Given the description of an element on the screen output the (x, y) to click on. 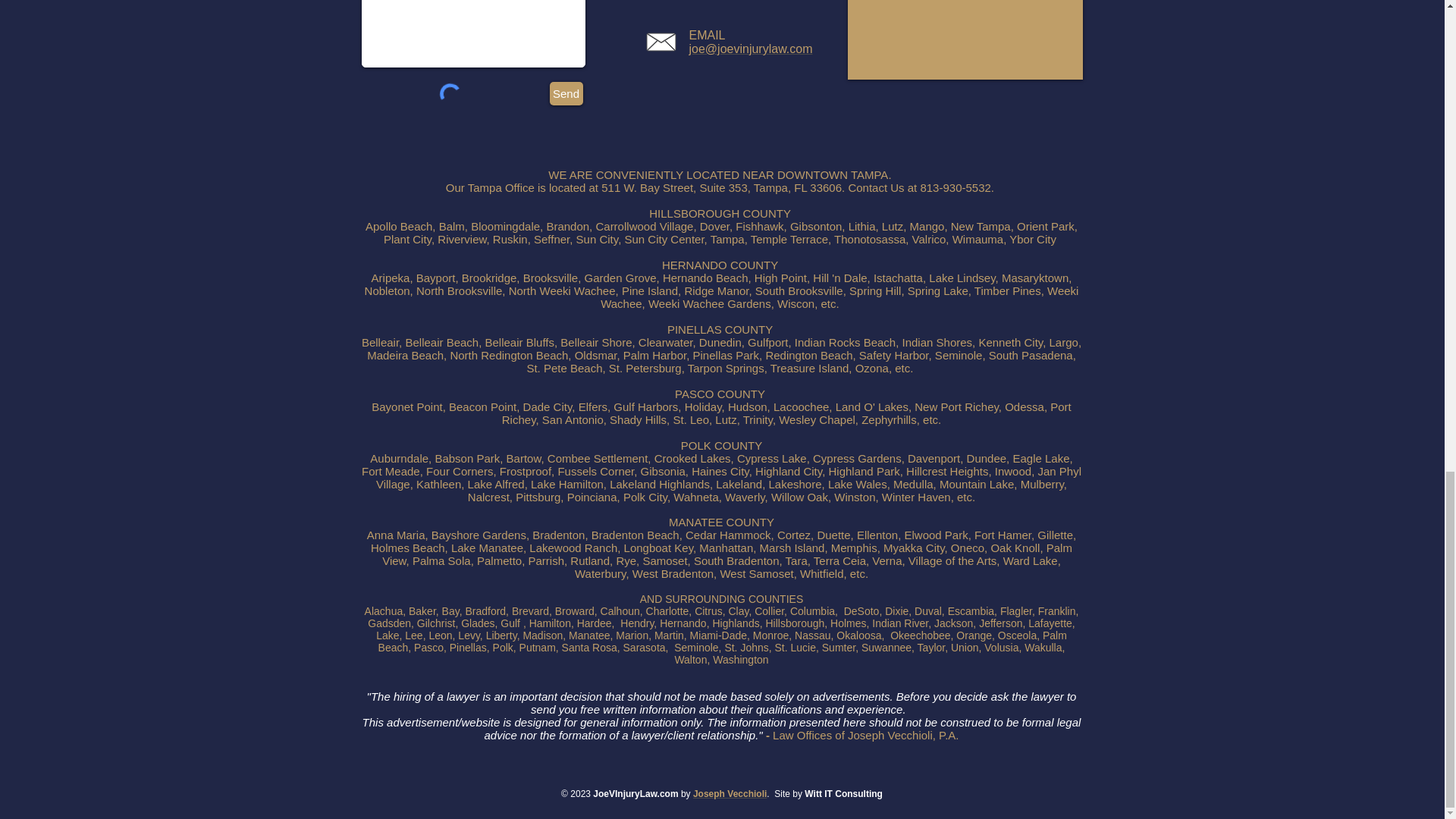
Send (565, 93)
Witt IT Consulting (843, 793)
Joseph Vecchioli (730, 793)
JoeVInjuryLaw.com (635, 793)
